Given the description of an element on the screen output the (x, y) to click on. 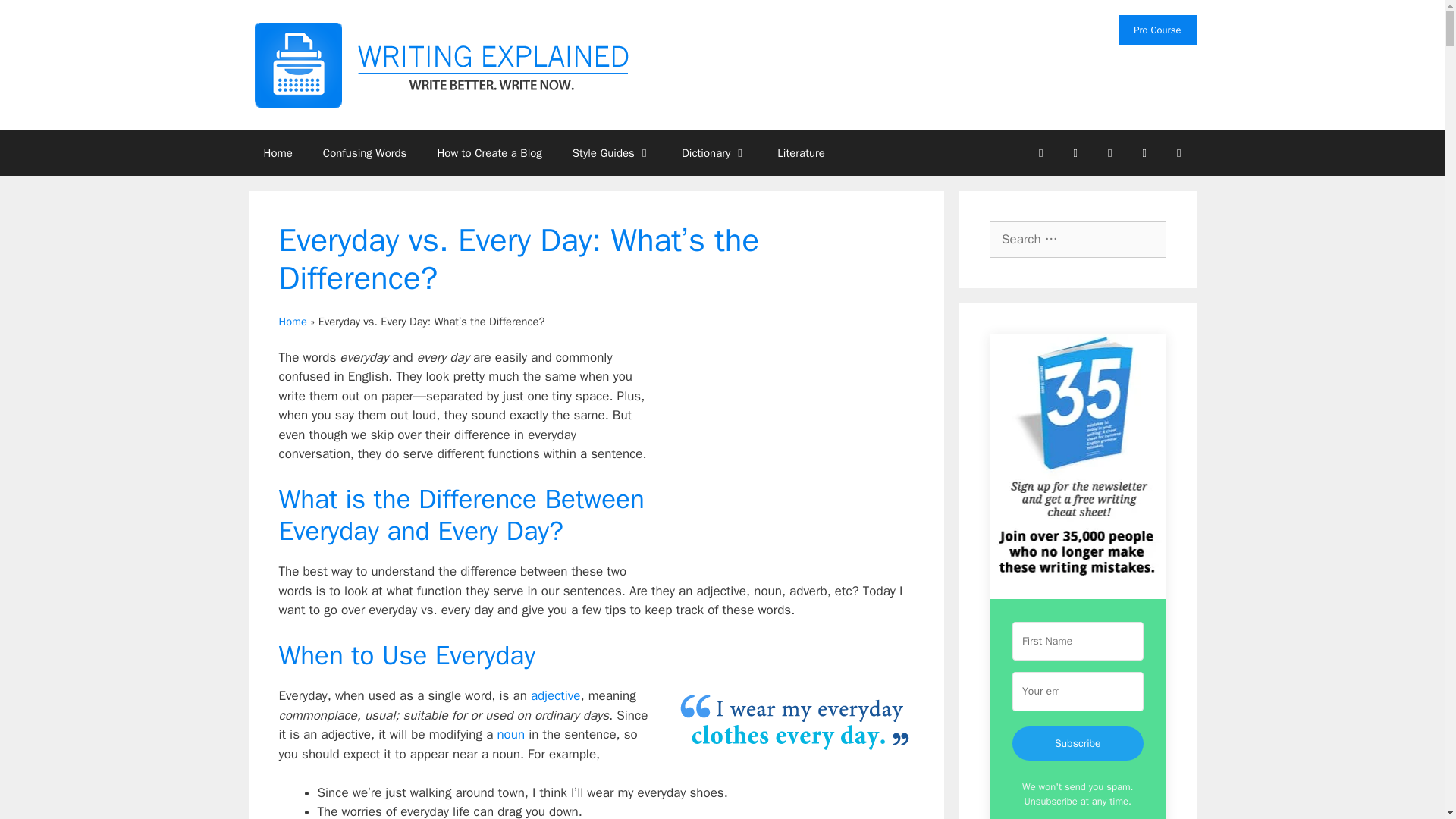
Home (293, 321)
Confusing Words (364, 153)
Literature (800, 153)
Home (277, 153)
Pro Course (1156, 30)
Dictionary (713, 153)
Subscribe (1076, 743)
noun (510, 734)
Advertisement (786, 461)
Style Guides (611, 153)
